Given the description of an element on the screen output the (x, y) to click on. 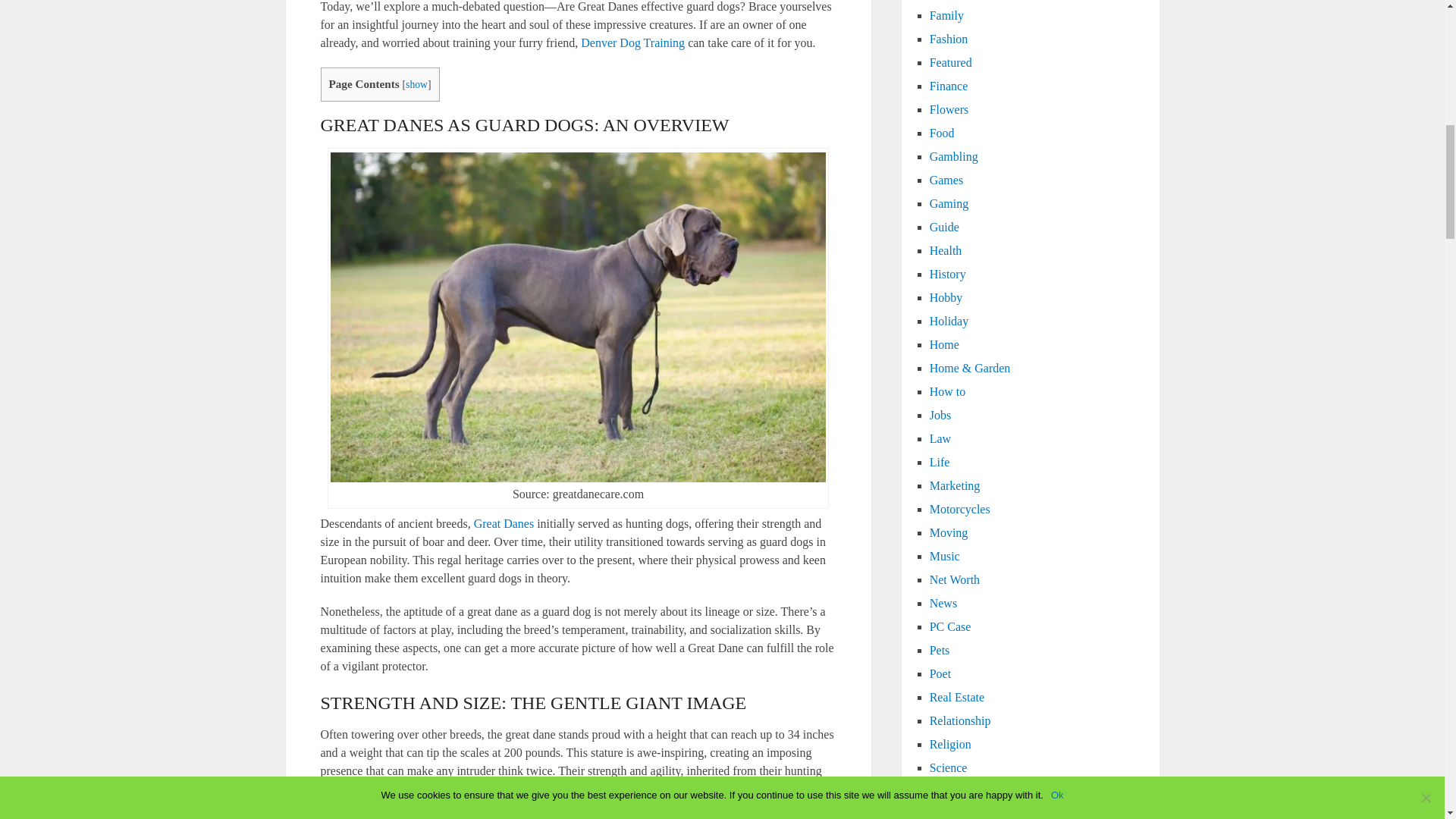
Denver Dog Training (632, 42)
Great Danes (504, 522)
show (417, 84)
